Given the description of an element on the screen output the (x, y) to click on. 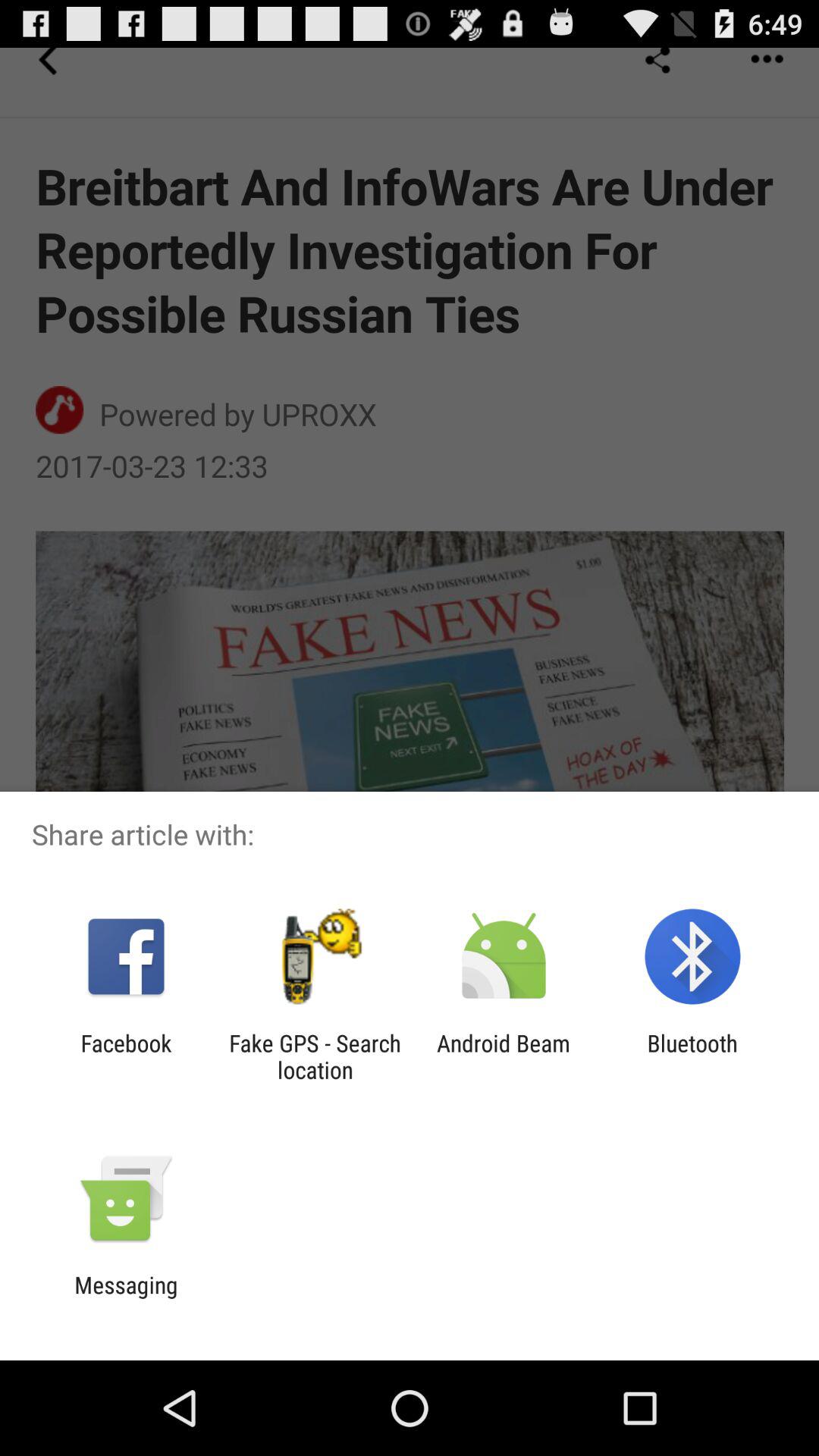
turn off item to the right of facebook icon (314, 1056)
